Given the description of an element on the screen output the (x, y) to click on. 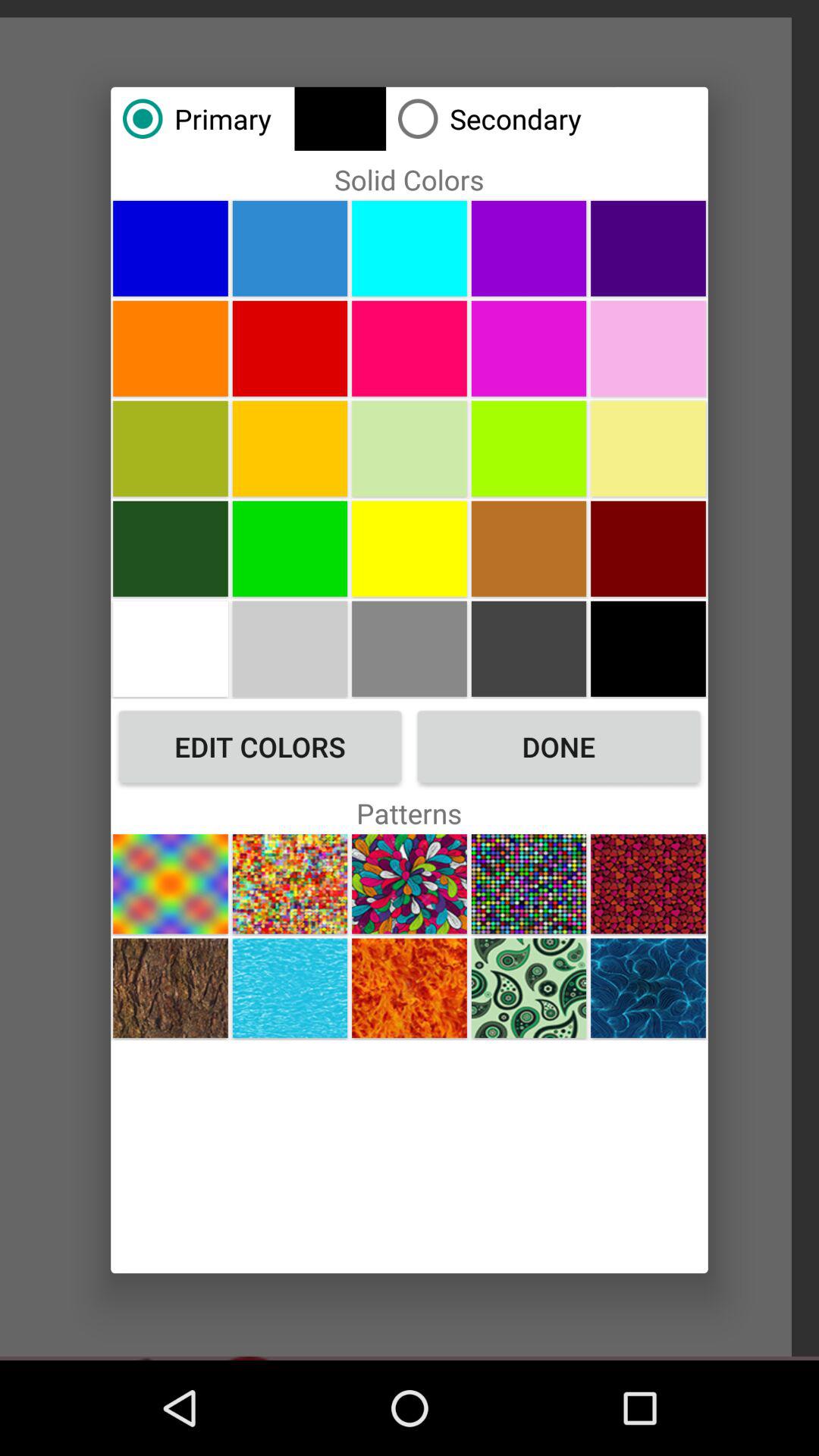
choose color (289, 548)
